Given the description of an element on the screen output the (x, y) to click on. 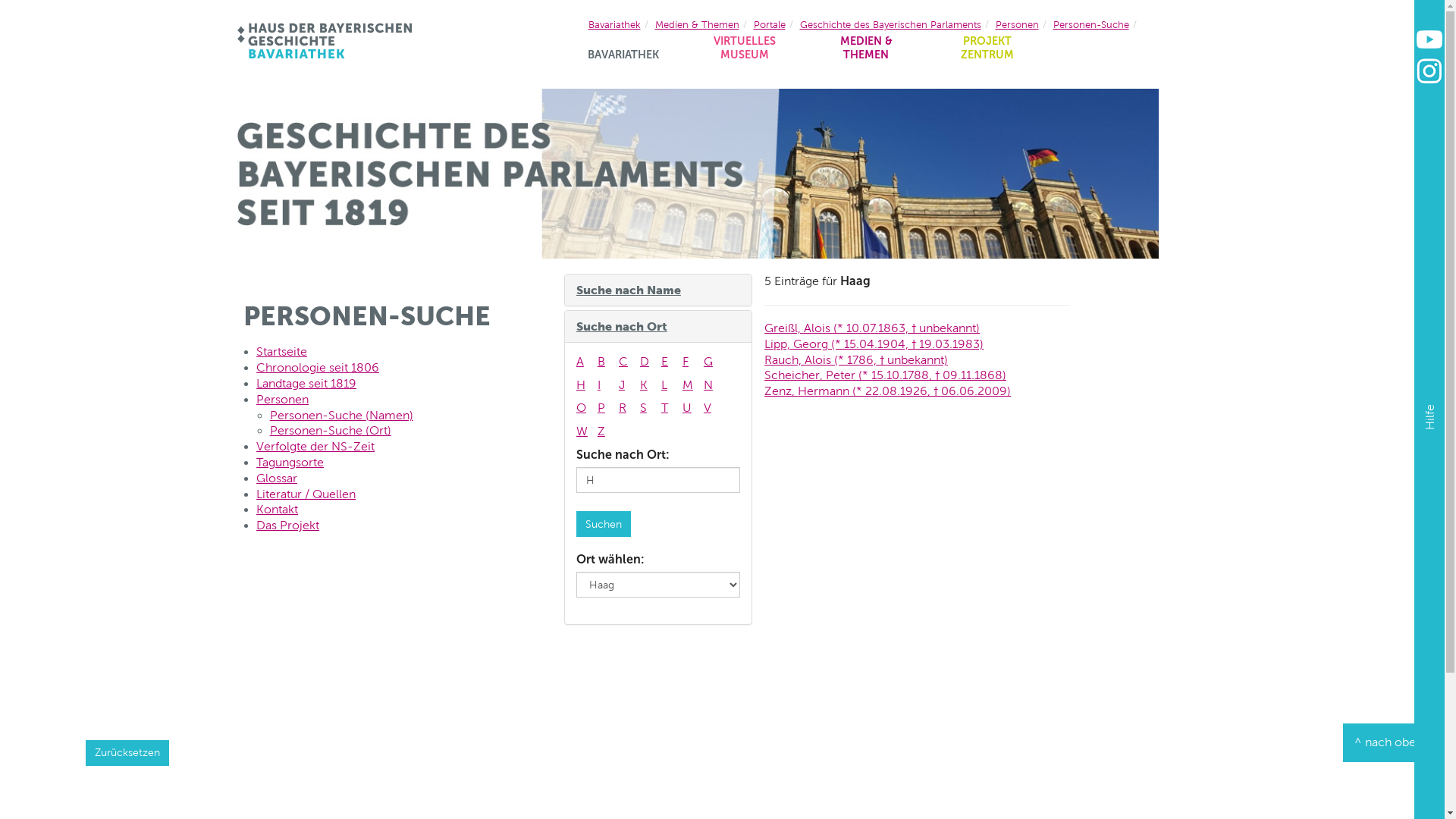
R Element type: text (627, 408)
N Element type: text (712, 385)
BAVARIATHEK Element type: text (623, 60)
O Element type: text (585, 408)
Suchen Element type: text (603, 523)
H Element type: text (585, 385)
^ nach oben ^ Element type: text (1393, 742)
G Element type: text (712, 362)
Portale Element type: text (769, 24)
MEDIEN & THEMEN Element type: text (865, 52)
Das Projekt Element type: text (287, 524)
P Element type: text (606, 408)
V Element type: text (712, 408)
Personen-Suche Element type: text (1090, 24)
Literatur / Quellen Element type: text (305, 493)
Glossar Element type: text (276, 477)
Landtage seit 1819 Element type: text (306, 382)
Startseite Element type: hover (323, 40)
Suche nach Ort Element type: text (621, 325)
J Element type: text (627, 385)
Geschichte des Bayerischen Parlaments Element type: text (889, 24)
K Element type: text (649, 385)
D Element type: text (649, 362)
Tagungsorte Element type: text (289, 461)
C Element type: text (627, 362)
PROJEKT ZENTRUM Element type: text (987, 52)
I Element type: text (606, 385)
Personen Element type: text (282, 398)
Personen-Suche (Namen) Element type: text (341, 414)
Verfolgte der NS-Zeit Element type: text (315, 445)
F Element type: text (691, 362)
Chronologie seit 1806 Element type: text (317, 366)
Suche nach Name Element type: text (628, 289)
B Element type: text (606, 362)
E Element type: text (670, 362)
Bavariathek Element type: text (614, 24)
Z Element type: text (606, 431)
Startseite Element type: text (281, 351)
Personen-Suche (Ort) Element type: text (330, 429)
U Element type: text (691, 408)
T Element type: text (670, 408)
L Element type: text (670, 385)
M Element type: text (691, 385)
VIRTUELLES MUSEUM Element type: text (744, 52)
S Element type: text (649, 408)
Personen Element type: text (1016, 24)
Medien & Themen Element type: text (697, 24)
W Element type: text (585, 431)
Kontakt Element type: text (277, 508)
A Element type: text (585, 362)
